Given the description of an element on the screen output the (x, y) to click on. 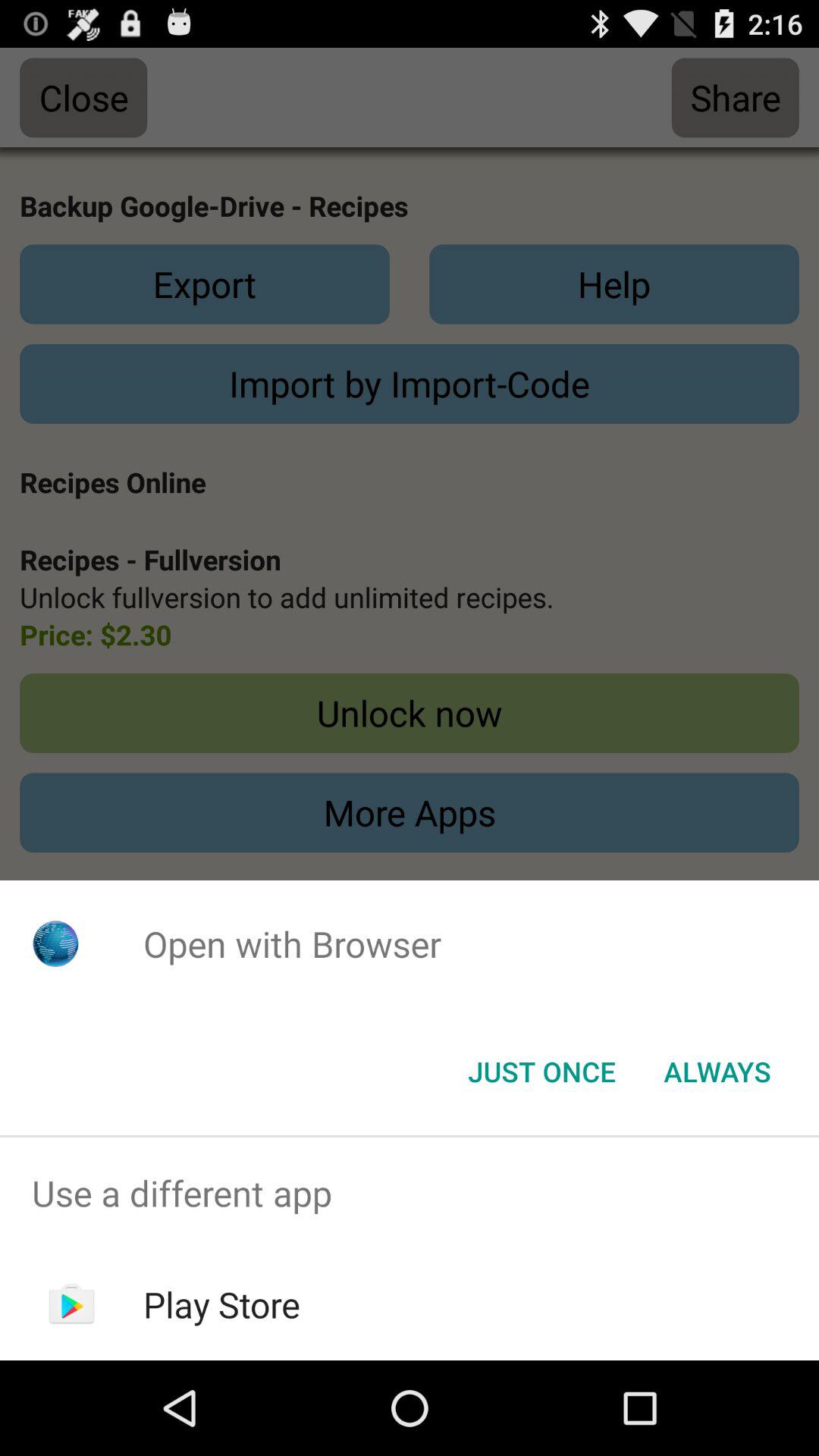
turn on button next to always icon (541, 1071)
